Given the description of an element on the screen output the (x, y) to click on. 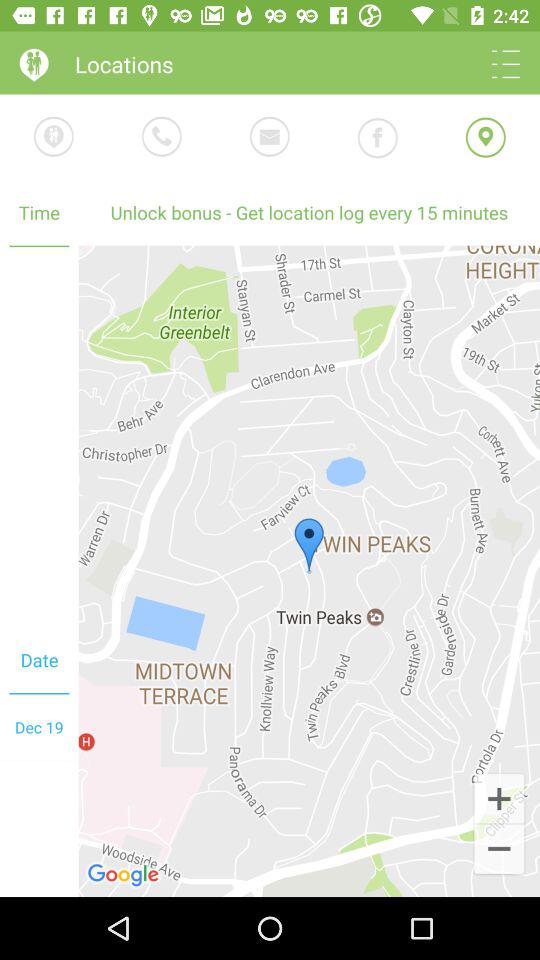
open options menu (505, 64)
